Given the description of an element on the screen output the (x, y) to click on. 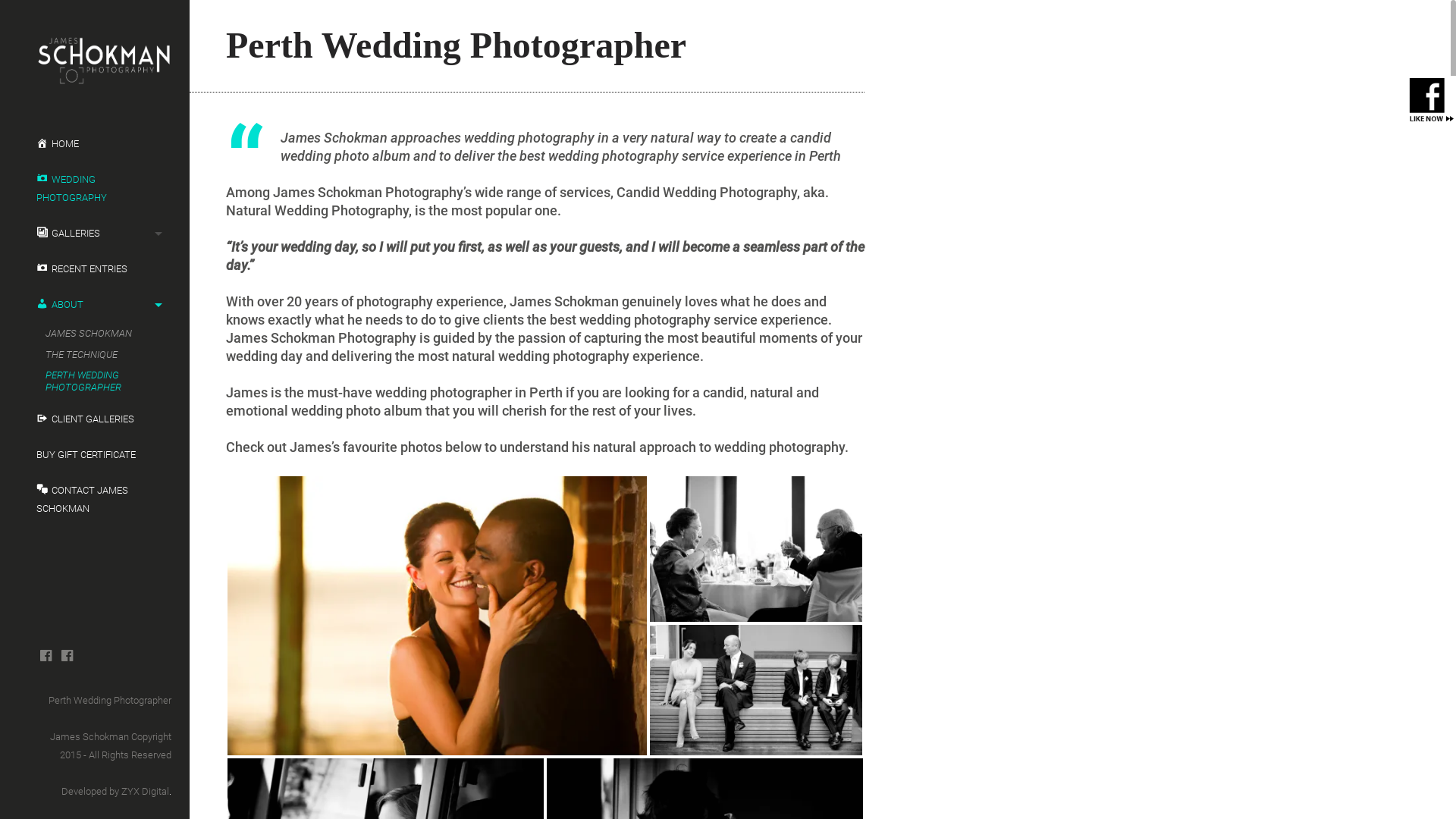
THE TECHNIQUE Element type: text (99, 354)
facebook Element type: text (66, 655)
James_schokman_photography_website-116 Element type: hover (755, 548)
Developed by ZYX Digital Element type: text (115, 791)
HOME Element type: text (94, 143)
GALLERIES Element type: text (94, 233)
James_schokman_photography_website-118 Element type: hover (755, 689)
Perth Wedding Photographer Element type: text (109, 700)
RECENT ENTRIES Element type: text (94, 269)
JAMES SCHOKMAN Element type: text (99, 333)
James_schokman_photography_engagement--5 Element type: hover (436, 615)
CLIENT GALLERIES Element type: text (94, 419)
BUY GIFT CERTIFICATE Element type: text (94, 454)
facebook Element type: text (45, 655)
PERTH WEDDING PHOTOGRAPHER Element type: text (99, 380)
WEDDING PHOTOGRAPHY Element type: text (94, 188)
James Schokman Copyright 2015 - All Rights Reserved Element type: text (110, 745)
CONTACT JAMES SCHOKMAN Element type: text (94, 499)
ABOUT Element type: text (94, 304)
